Given the description of an element on the screen output the (x, y) to click on. 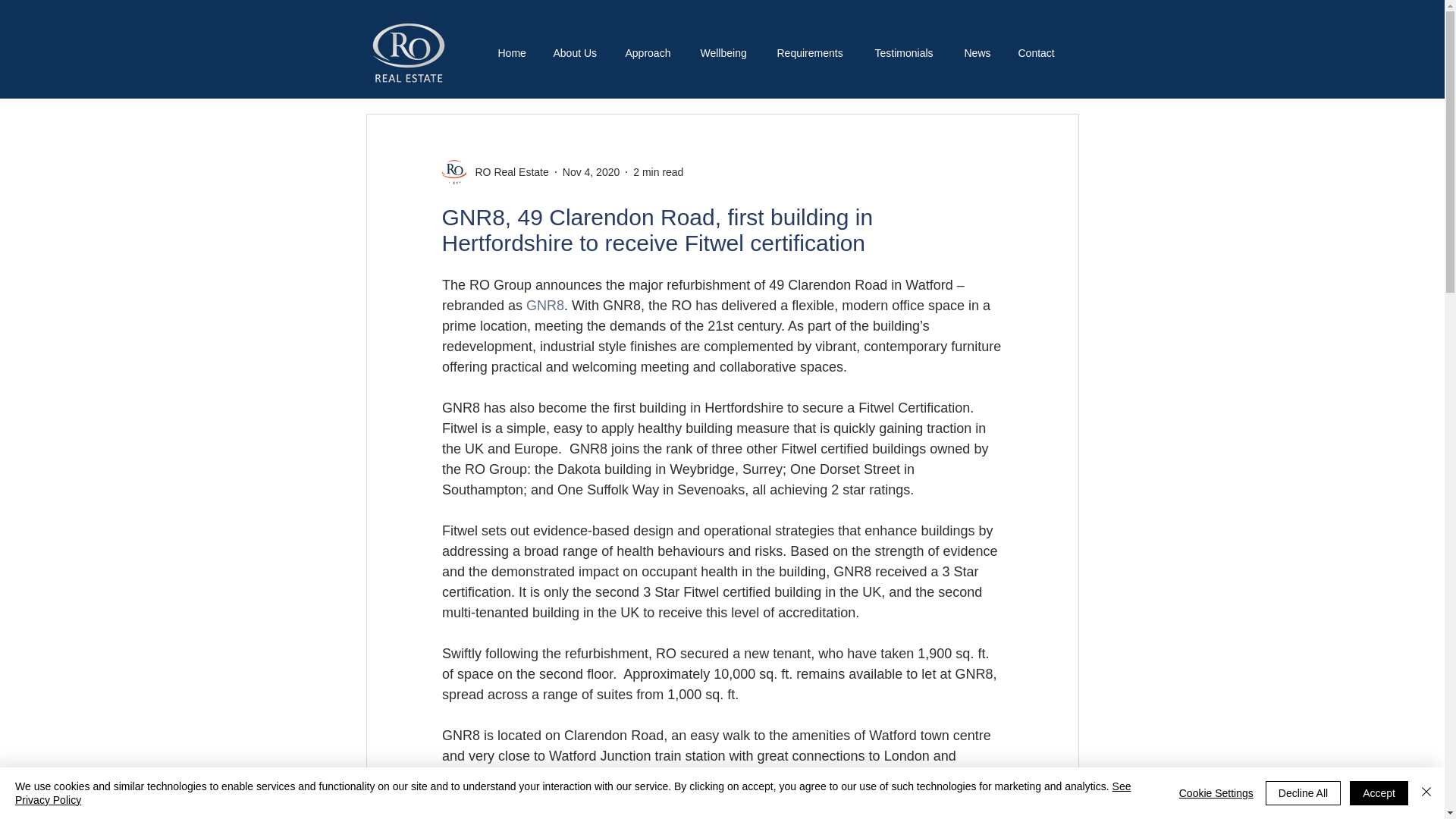
Requirements (814, 52)
RO Real Estate (506, 171)
Home (519, 52)
Testimonials (907, 52)
Nov 4, 2020 (591, 171)
Decline All (1302, 793)
News (979, 52)
RO Real Estate (494, 171)
Wellbeing (726, 52)
2 min read (657, 171)
